Given the description of an element on the screen output the (x, y) to click on. 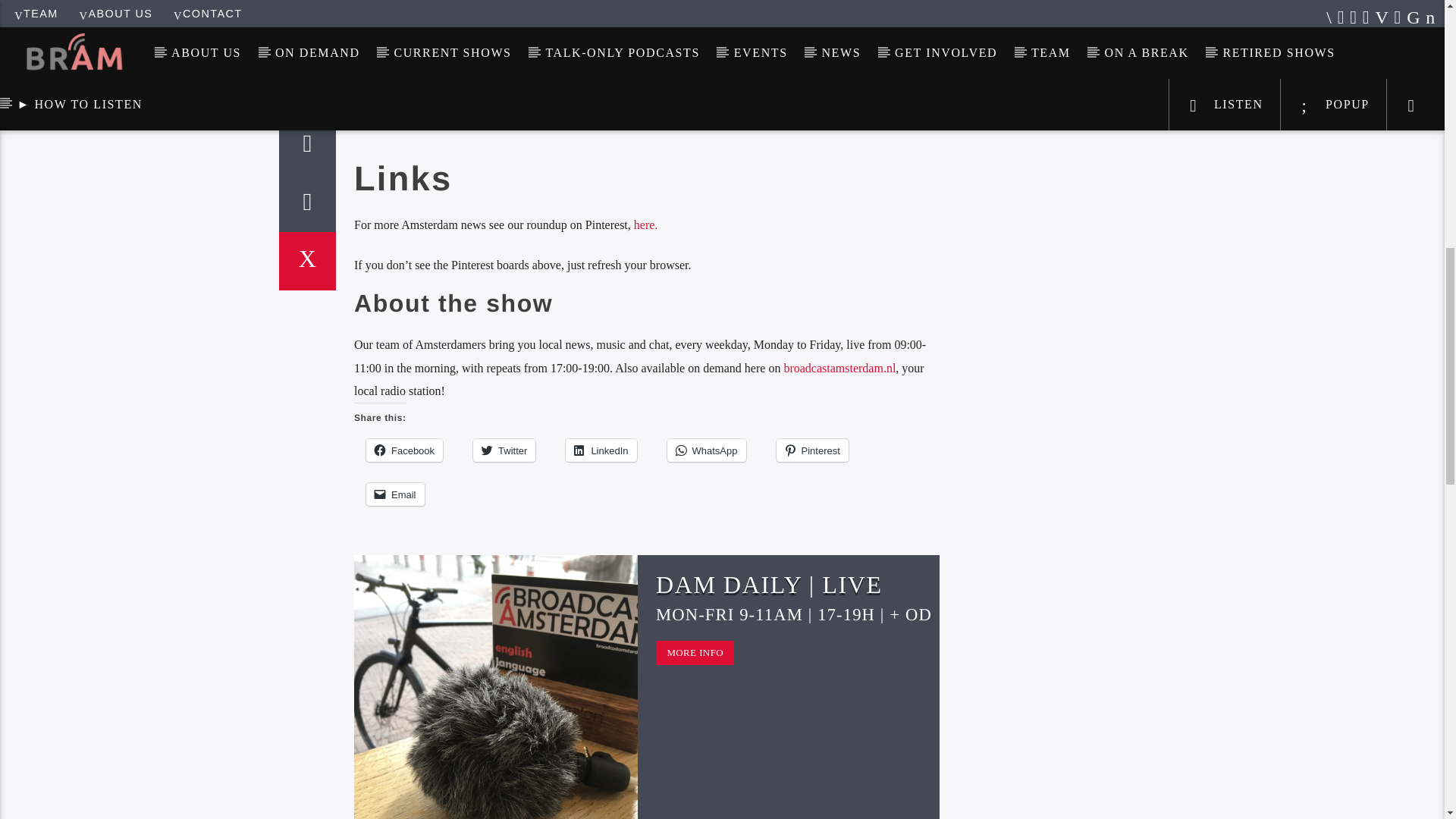
Click to share on Facebook (404, 449)
Click to share on LinkedIn (601, 449)
Click to email a link to a friend (395, 494)
Click to share on Twitter (504, 449)
Click to share on Pinterest (812, 449)
Click to share on WhatsApp (705, 449)
